Given the description of an element on the screen output the (x, y) to click on. 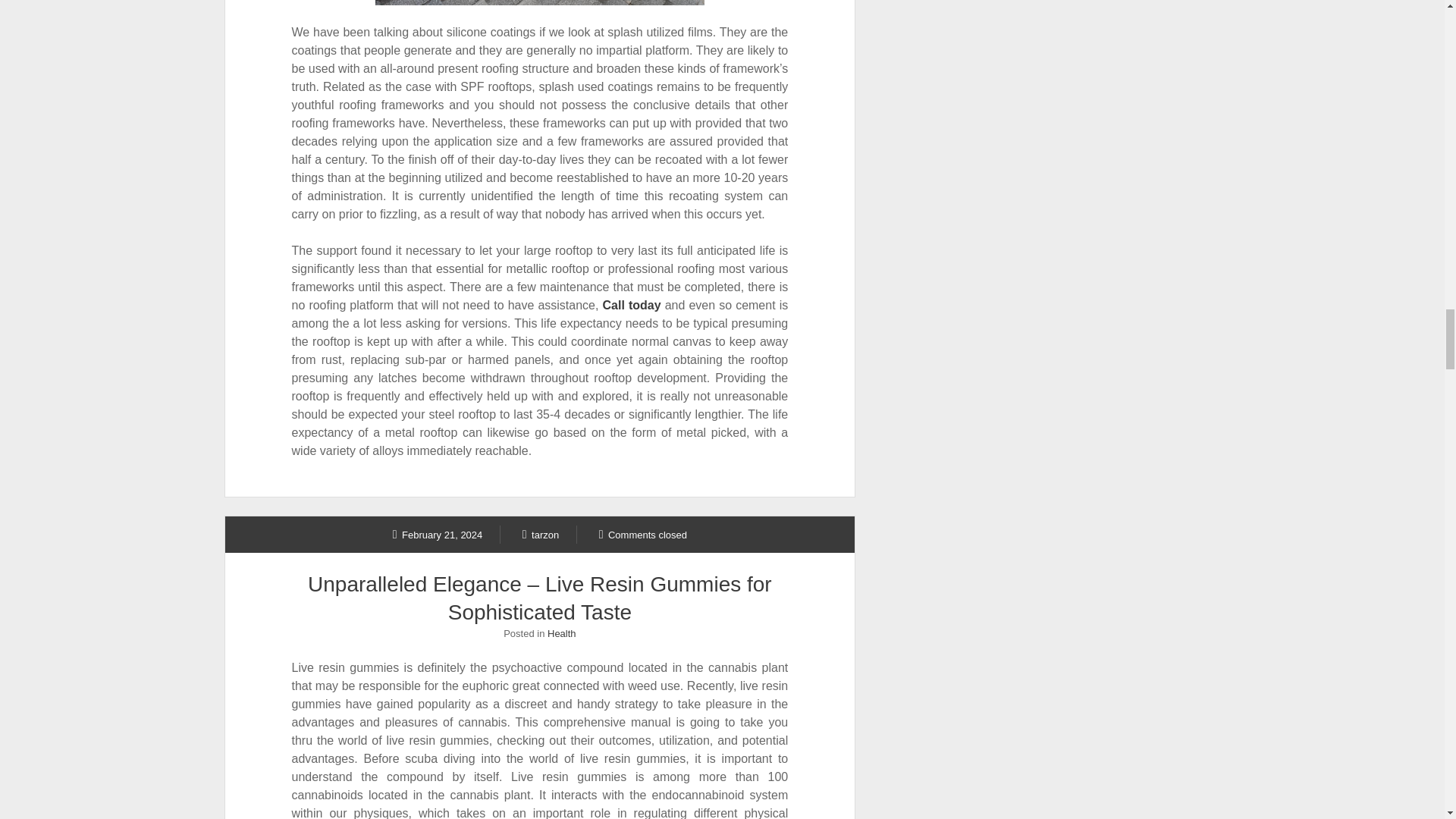
tarzon (540, 533)
Comments closed (642, 533)
Call today (631, 305)
February 21, 2024 (438, 533)
